Given the description of an element on the screen output the (x, y) to click on. 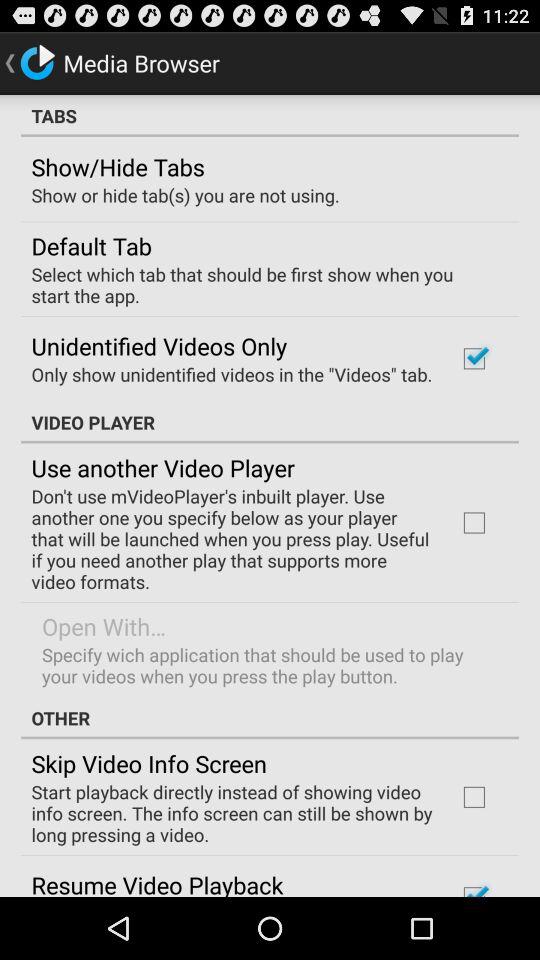
choose the icon below skip video info item (231, 813)
